Given the description of an element on the screen output the (x, y) to click on. 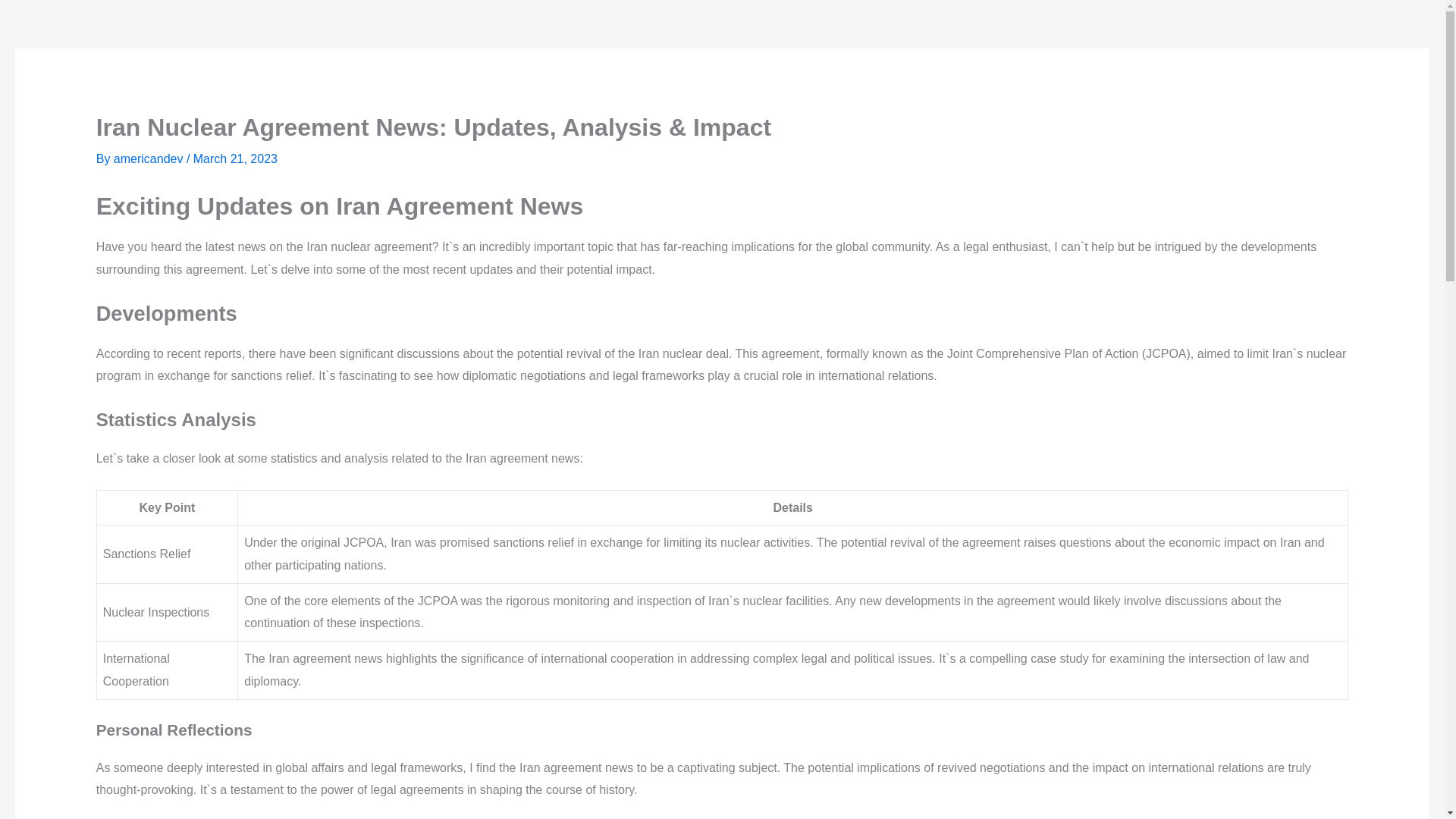
americandev (149, 158)
View all posts by americandev (149, 158)
